Given the description of an element on the screen output the (x, y) to click on. 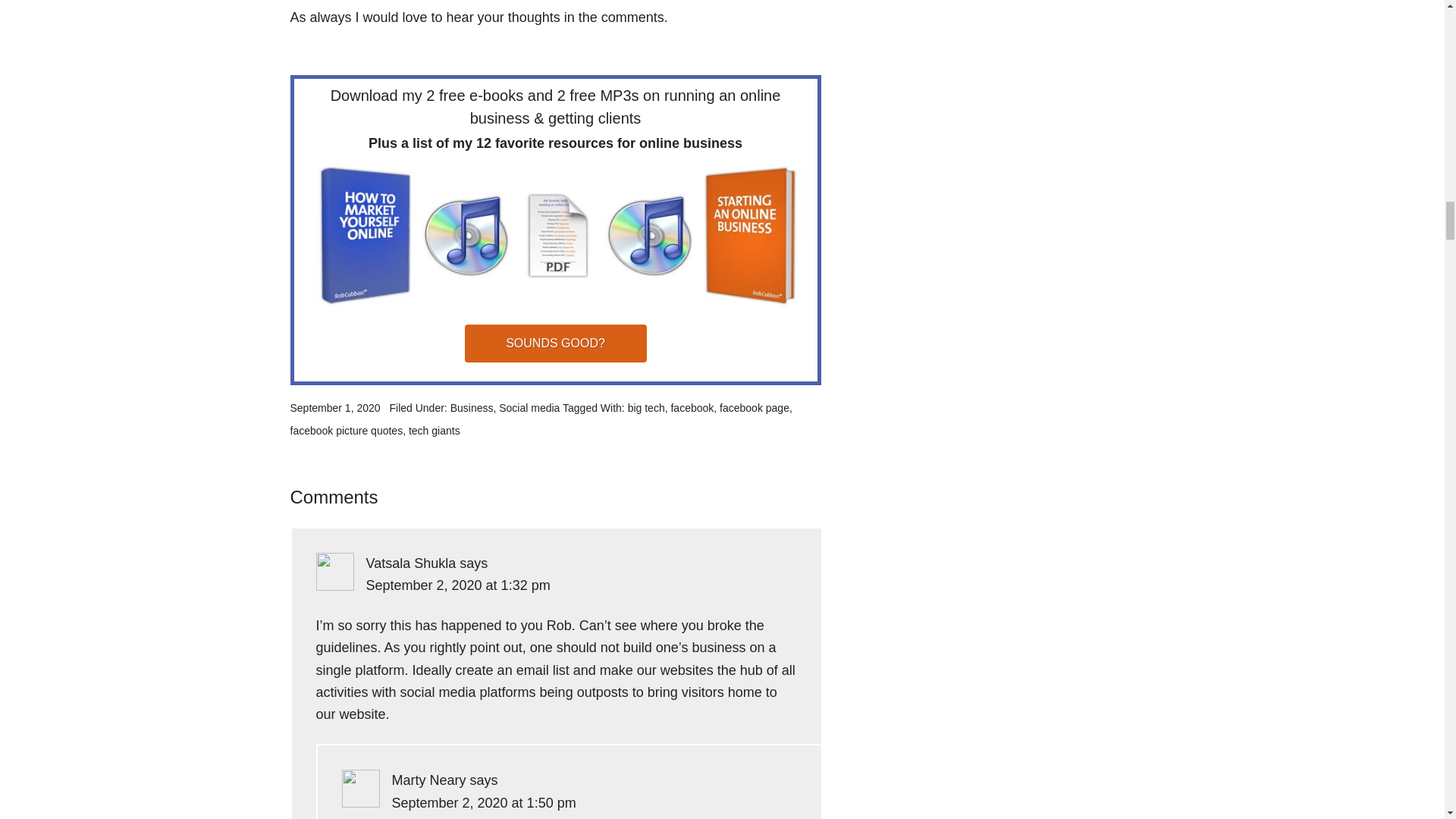
tech giants (434, 430)
facebook picture quotes (346, 430)
Business (471, 408)
SOUNDS GOOD? (555, 343)
facebook page (754, 408)
September 2, 2020 at 1:32 pm (457, 585)
September 2, 2020 at 1:50 pm (483, 802)
facebook (691, 408)
Social media (529, 408)
Vatsala Shukla (410, 563)
